Given the description of an element on the screen output the (x, y) to click on. 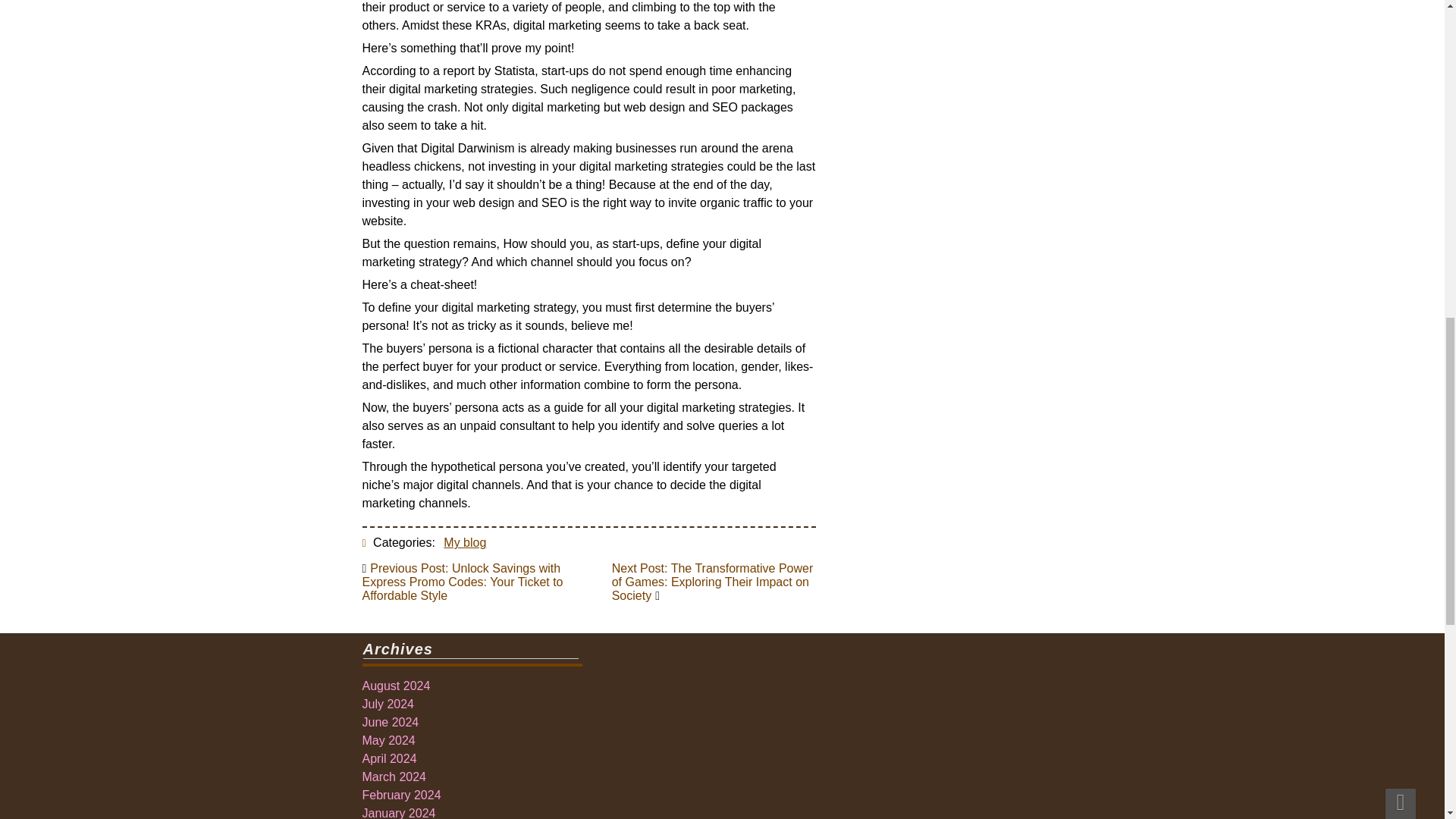
July 2024 (388, 703)
January 2024 (398, 812)
February 2024 (401, 794)
My blog (465, 542)
May 2024 (388, 739)
April 2024 (389, 758)
August 2024 (396, 685)
March 2024 (394, 776)
